Given the description of an element on the screen output the (x, y) to click on. 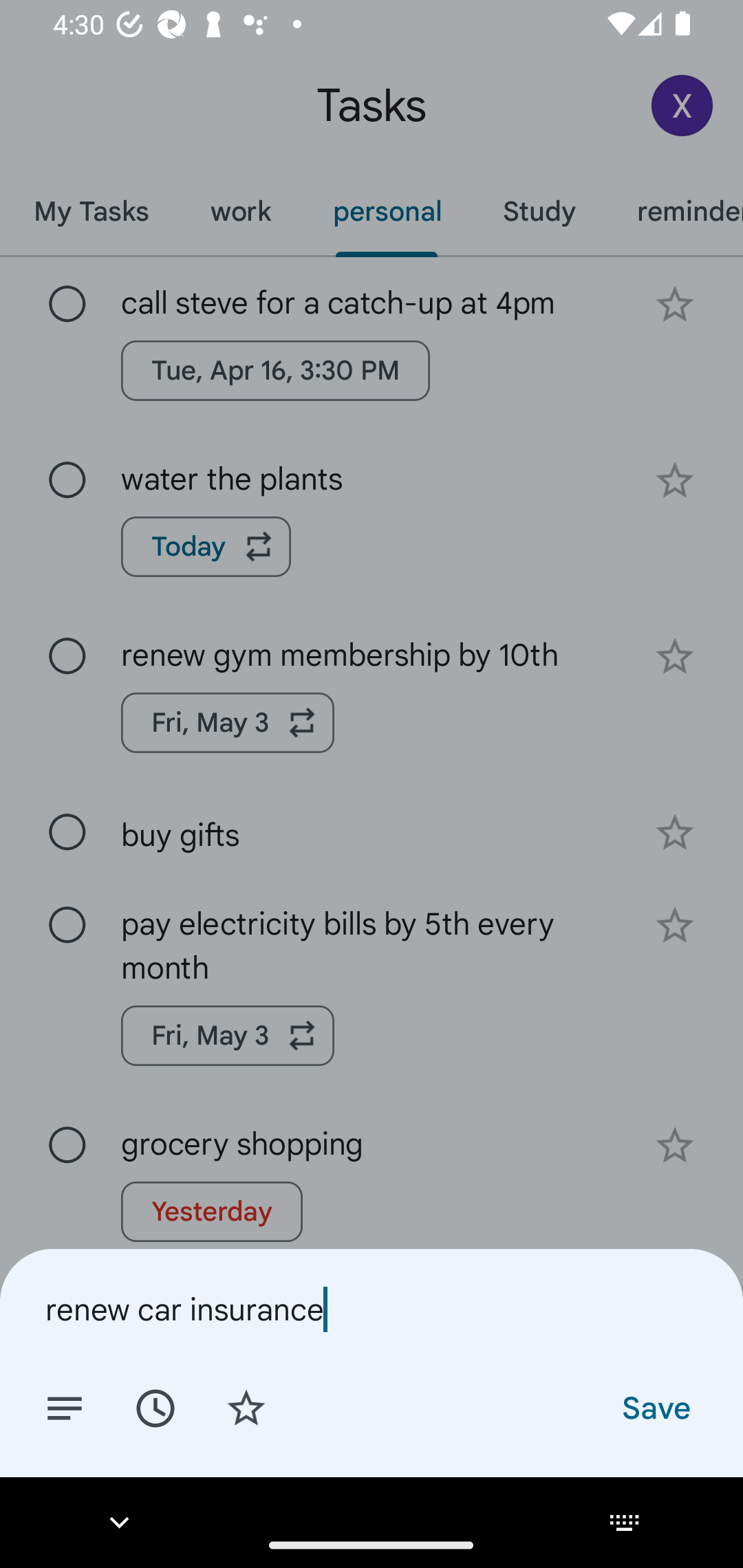
renew car insurance (371, 1308)
Save (655, 1407)
Add details (64, 1407)
Set date/time (154, 1407)
Add star (245, 1407)
